Given the description of an element on the screen output the (x, y) to click on. 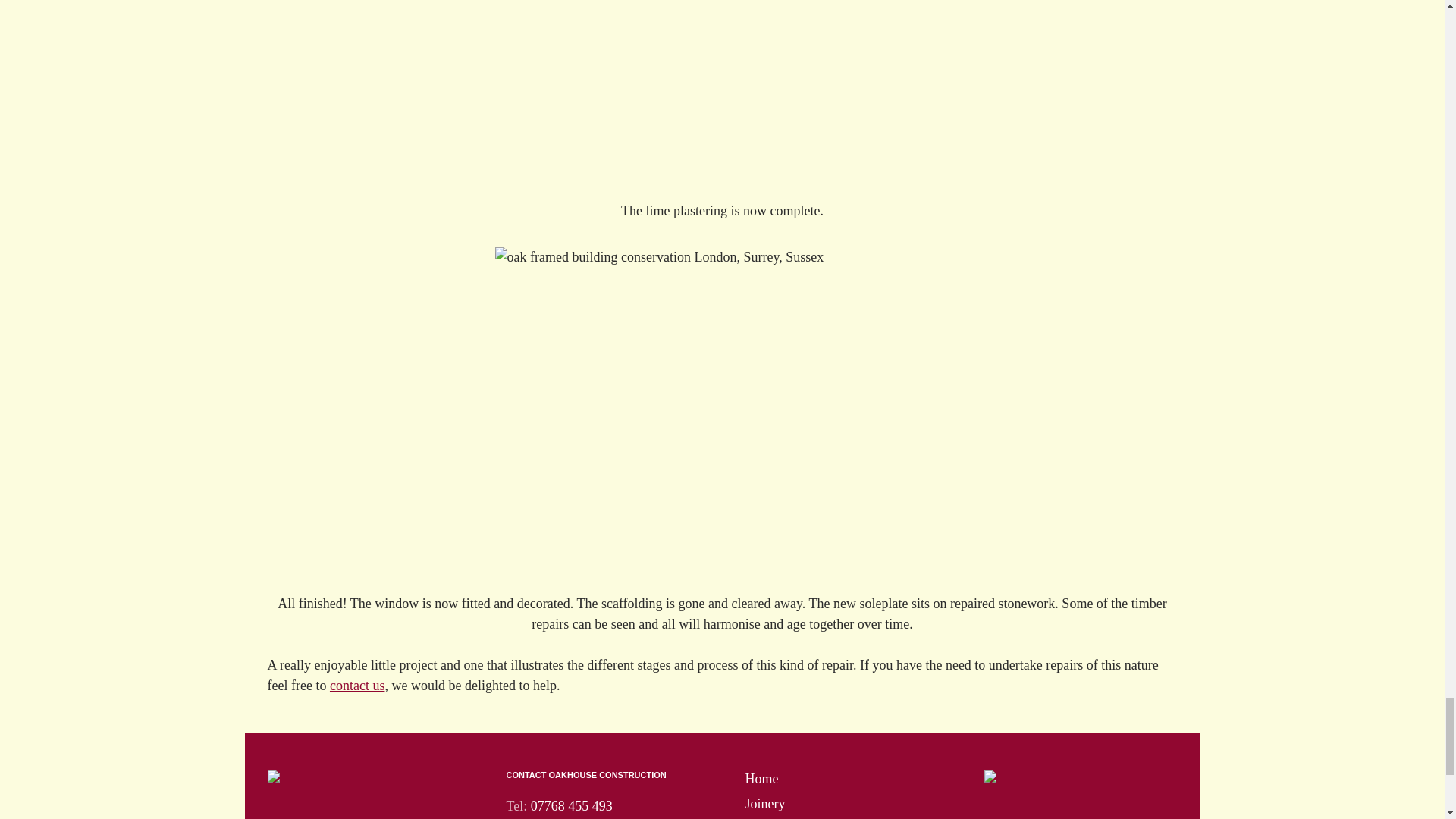
contact us (357, 685)
Joinery (764, 803)
07768 455 493 (571, 806)
Home (760, 778)
